Given the description of an element on the screen output the (x, y) to click on. 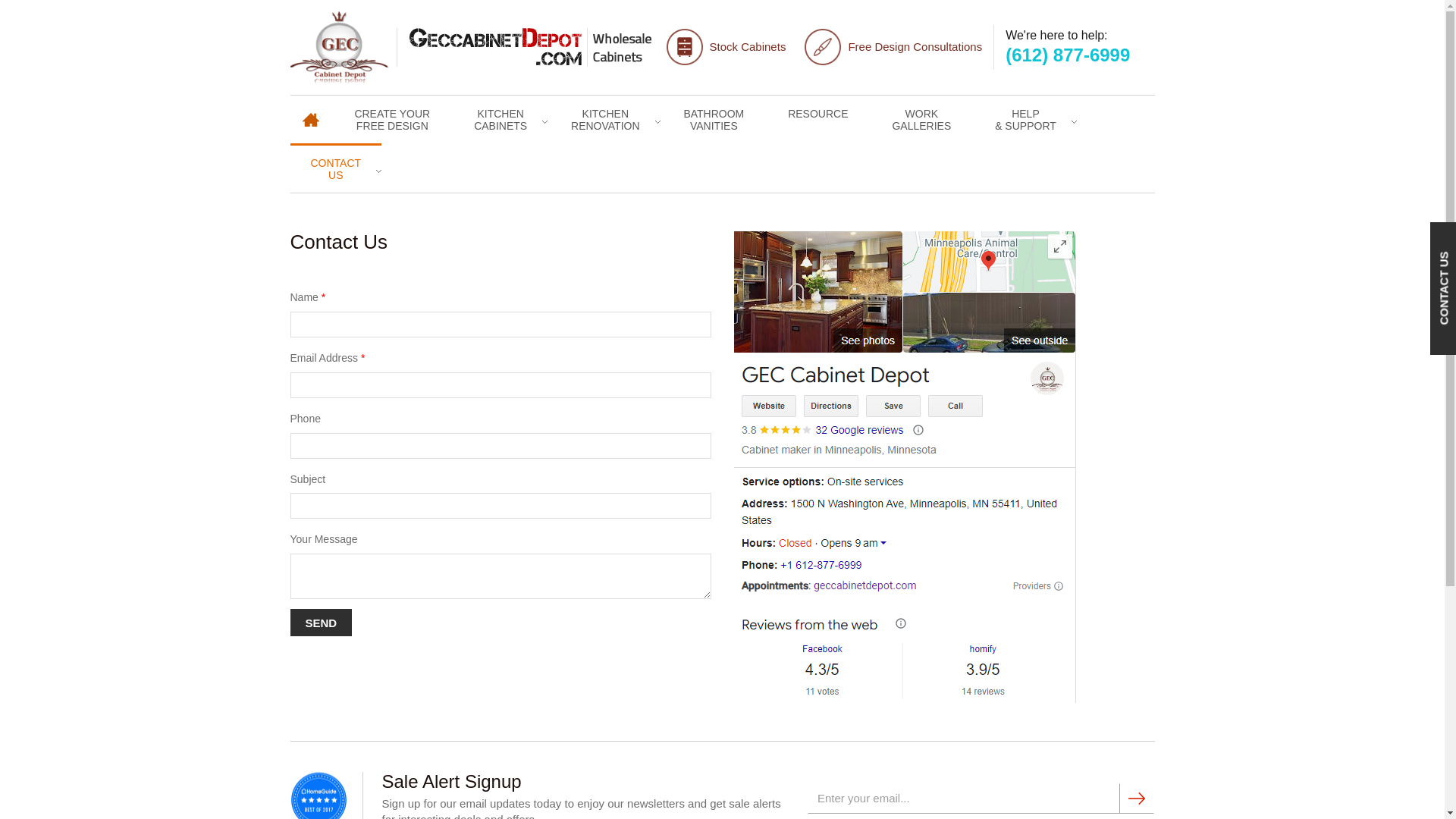
HOME (499, 118)
RESOURCE (309, 112)
Send (335, 167)
Send (817, 112)
Send (920, 118)
Send (320, 622)
